Given the description of an element on the screen output the (x, y) to click on. 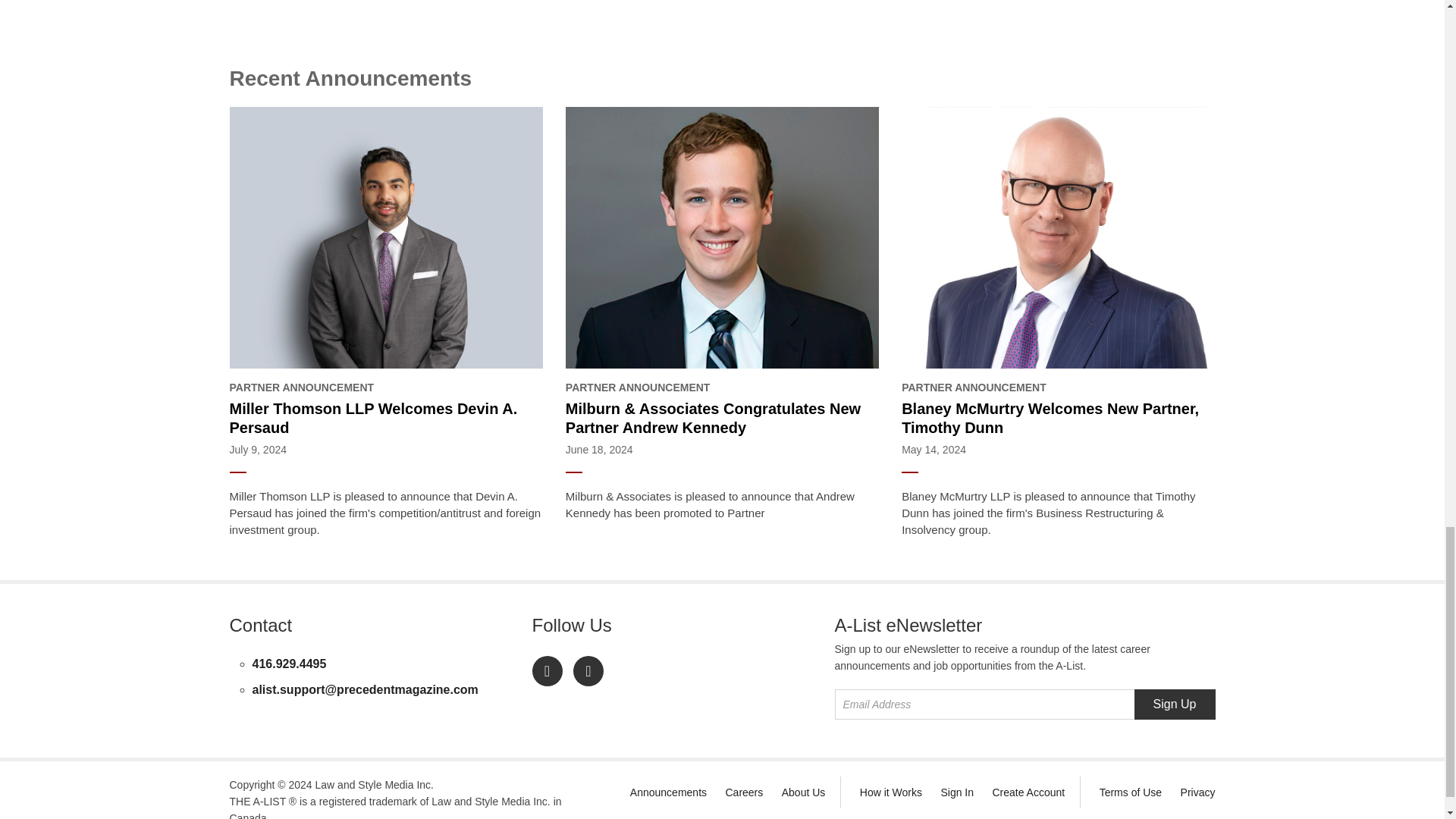
A-List on Twitter (588, 671)
PARTNER ANNOUNCEMENT (384, 387)
A-List on LinkedIn (547, 671)
PARTNER ANNOUNCEMENT (722, 387)
Blaney McMurtry Welcomes New Partner, Timothy Dunn (1057, 418)
416.929.4495 (288, 663)
Miller Thomson LLP Welcomes Devin A. Persaud (384, 418)
Sign Up (1174, 704)
PARTNER ANNOUNCEMENT (1057, 387)
Announcements (668, 792)
